Given the description of an element on the screen output the (x, y) to click on. 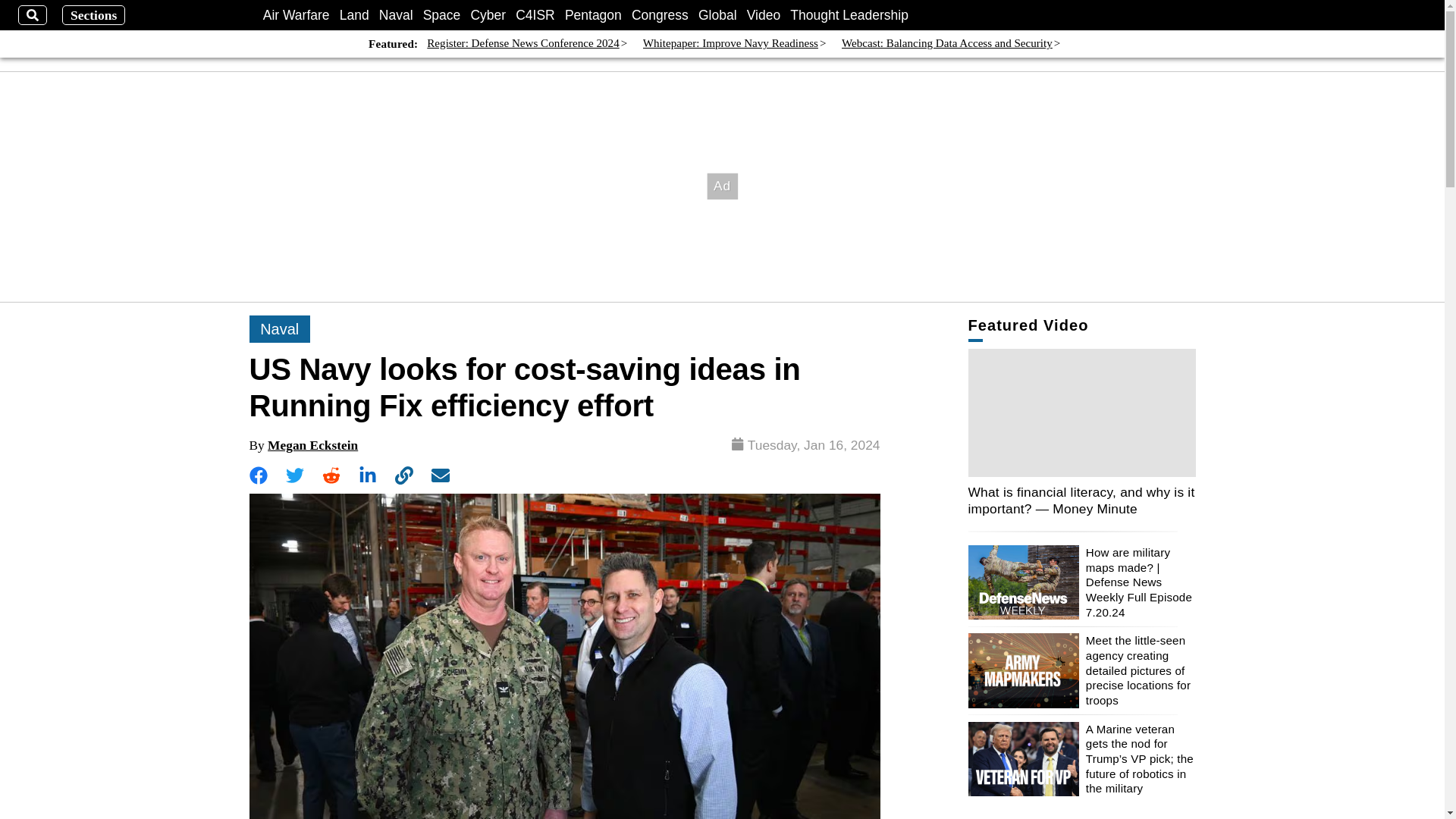
Air Warfare (296, 14)
Thought Leadership (849, 14)
Pentagon (592, 14)
Video (763, 14)
Naval (395, 14)
Space (442, 14)
Land (354, 14)
Congress (659, 14)
Global (717, 14)
Sections (93, 14)
